Given the description of an element on the screen output the (x, y) to click on. 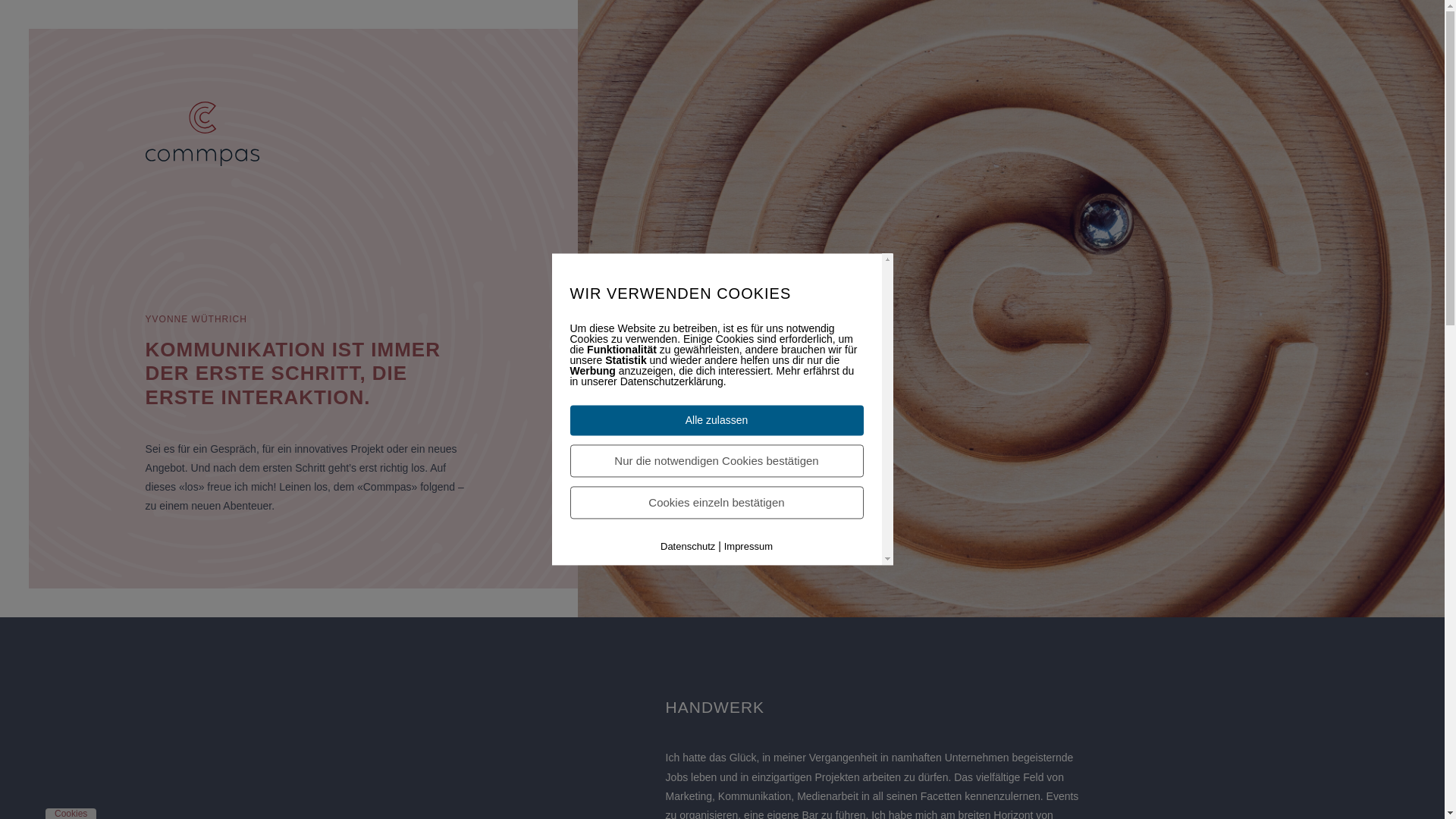
commpas_rgb Element type: hover (202, 133)
Impressum Element type: text (748, 546)
Alle zulassen Element type: text (716, 419)
Datenschutz Element type: text (687, 546)
